Given the description of an element on the screen output the (x, y) to click on. 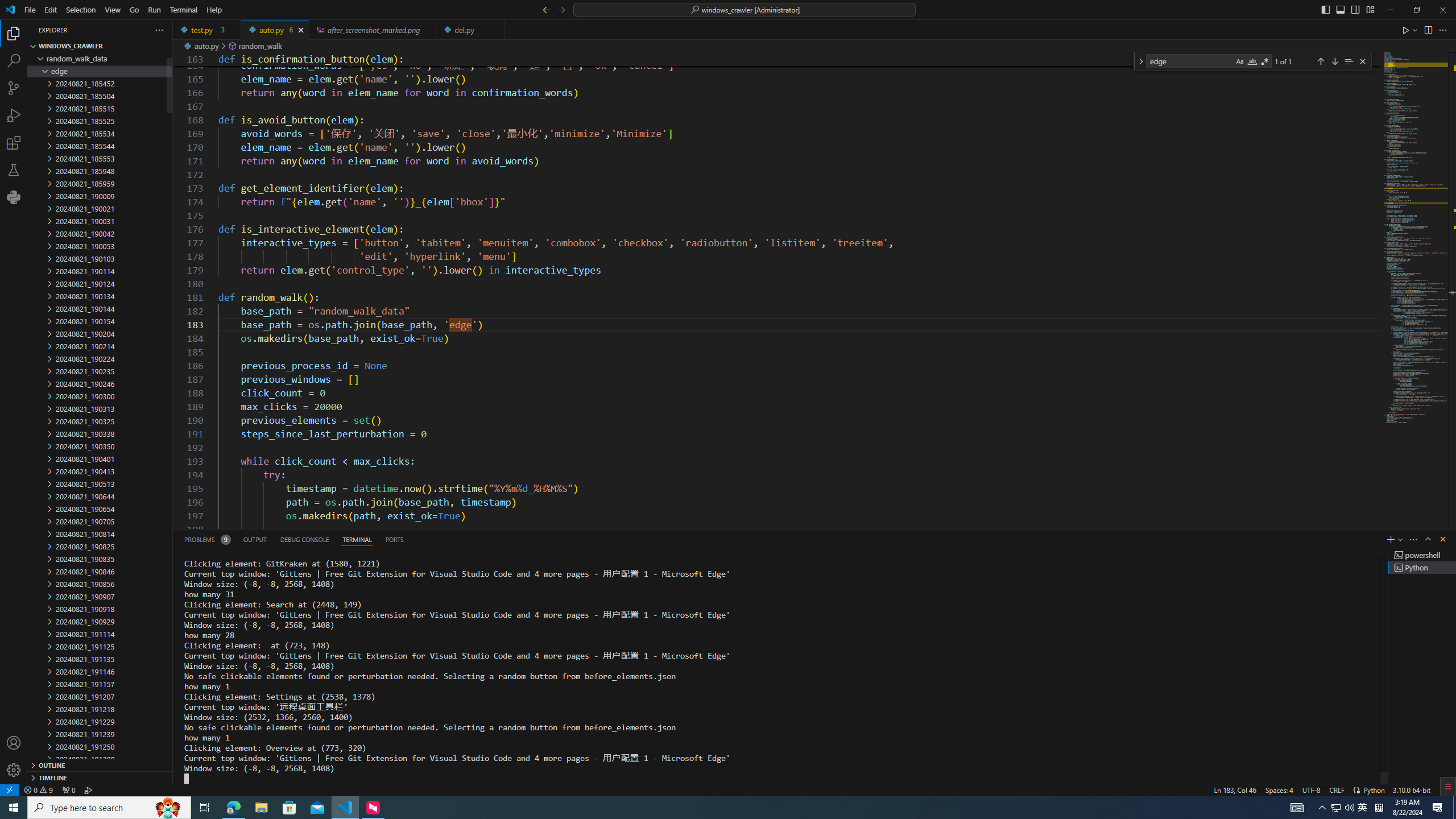
Python (1373, 789)
Go Back (Alt+LeftArrow) (546, 9)
Timeline Section (99, 777)
Run Python File (1405, 29)
Use Regular Expression (Alt+R) (1265, 61)
Find (1190, 60)
Run and Debug (Ctrl+Shift+D) (13, 115)
Tab actions (495, 29)
Problems (Ctrl+Shift+M) - Total 9 Problems (206, 539)
auto.py (274, 29)
Accounts (13, 742)
Search (Ctrl+Shift+F) (13, 60)
Terminal (Ctrl+`) (356, 539)
